Given the description of an element on the screen output the (x, y) to click on. 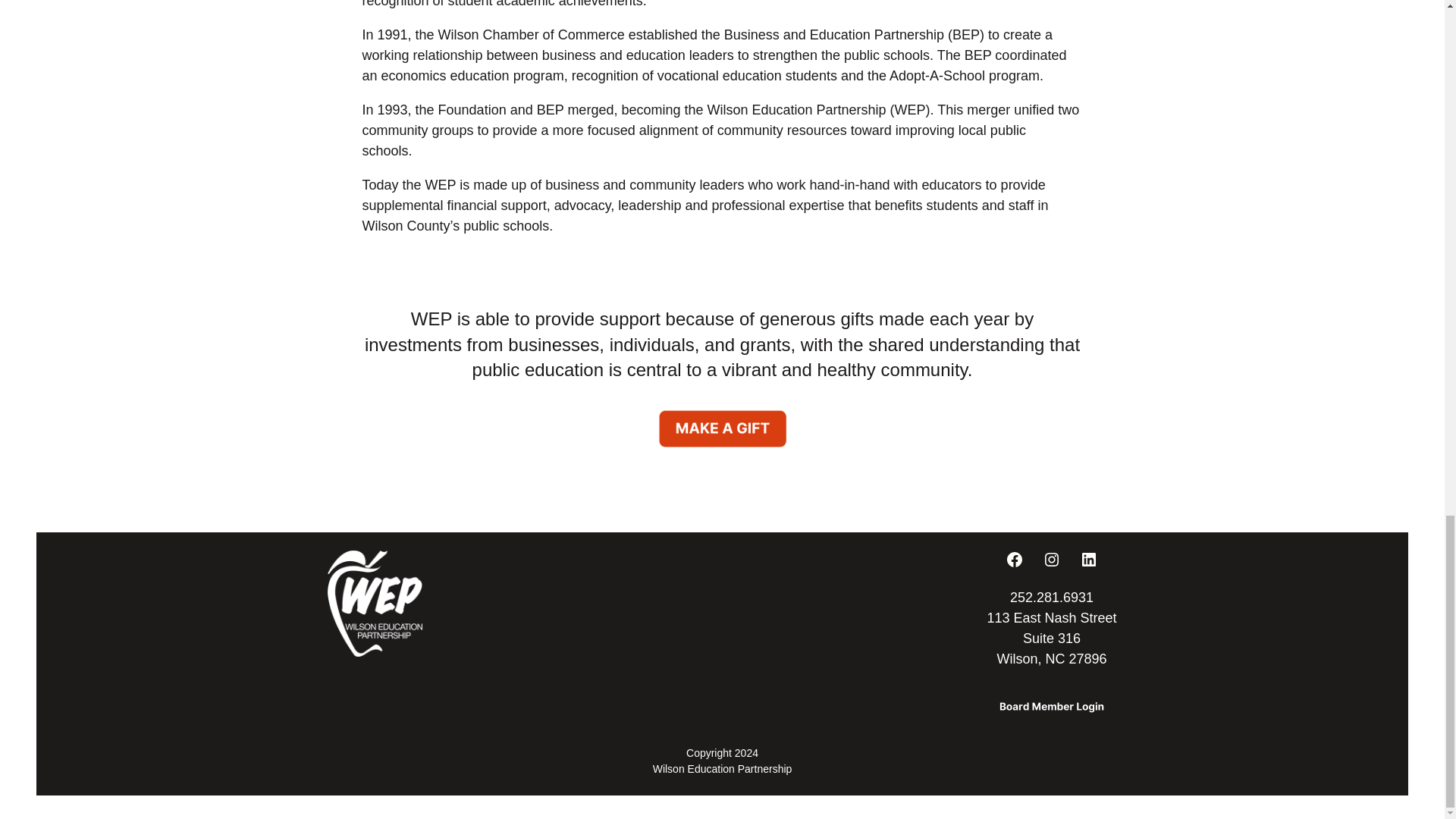
Facebook (1014, 559)
Instagram (1051, 559)
LinkedIn (1088, 559)
